Given the description of an element on the screen output the (x, y) to click on. 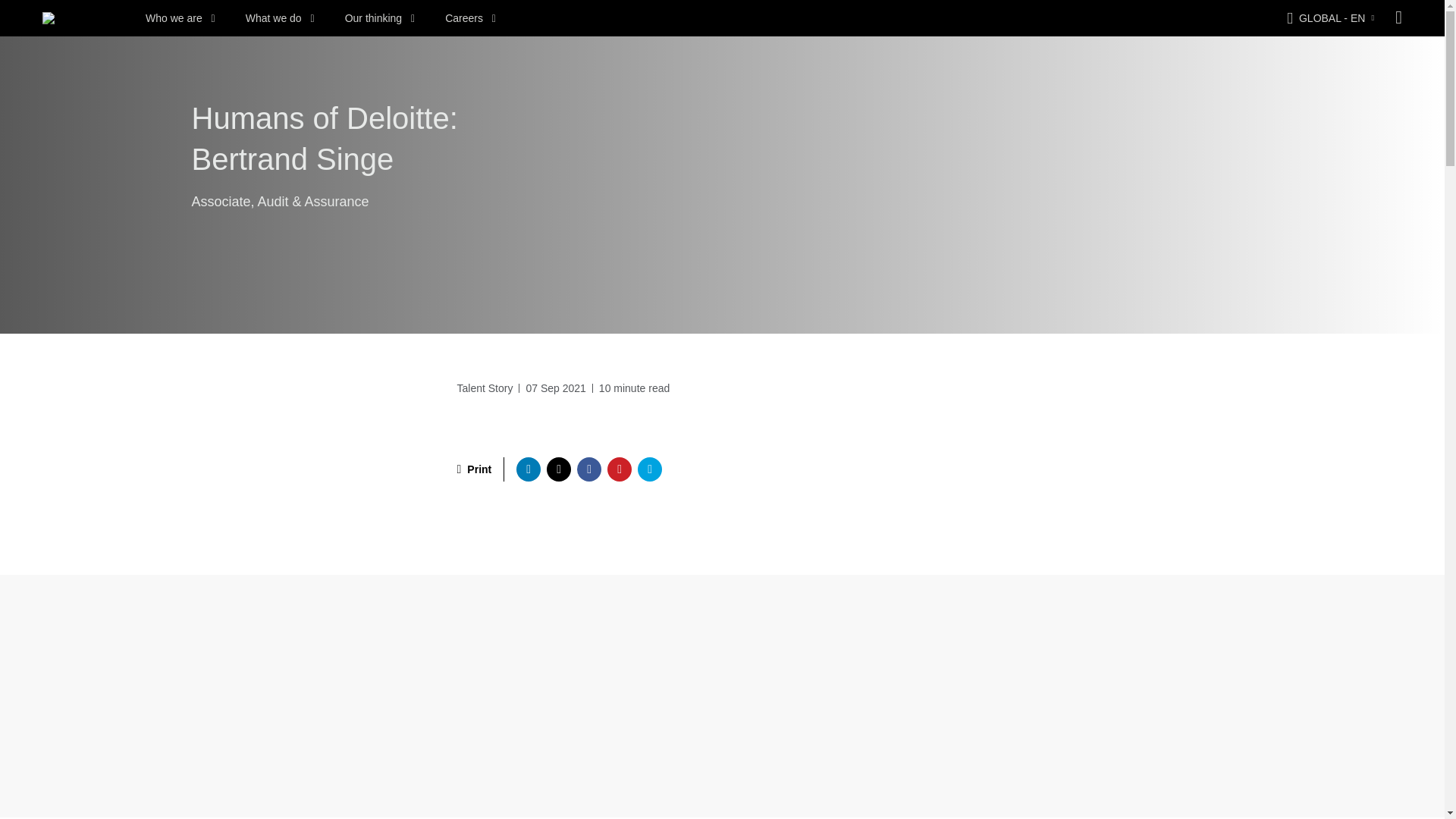
What we do (280, 18)
share via... (528, 469)
Deloitte (48, 18)
share via... (588, 469)
Who we are (180, 18)
share via... (649, 469)
Print (474, 469)
share via... (558, 469)
Our thinking (379, 18)
share via... (619, 469)
